Given the description of an element on the screen output the (x, y) to click on. 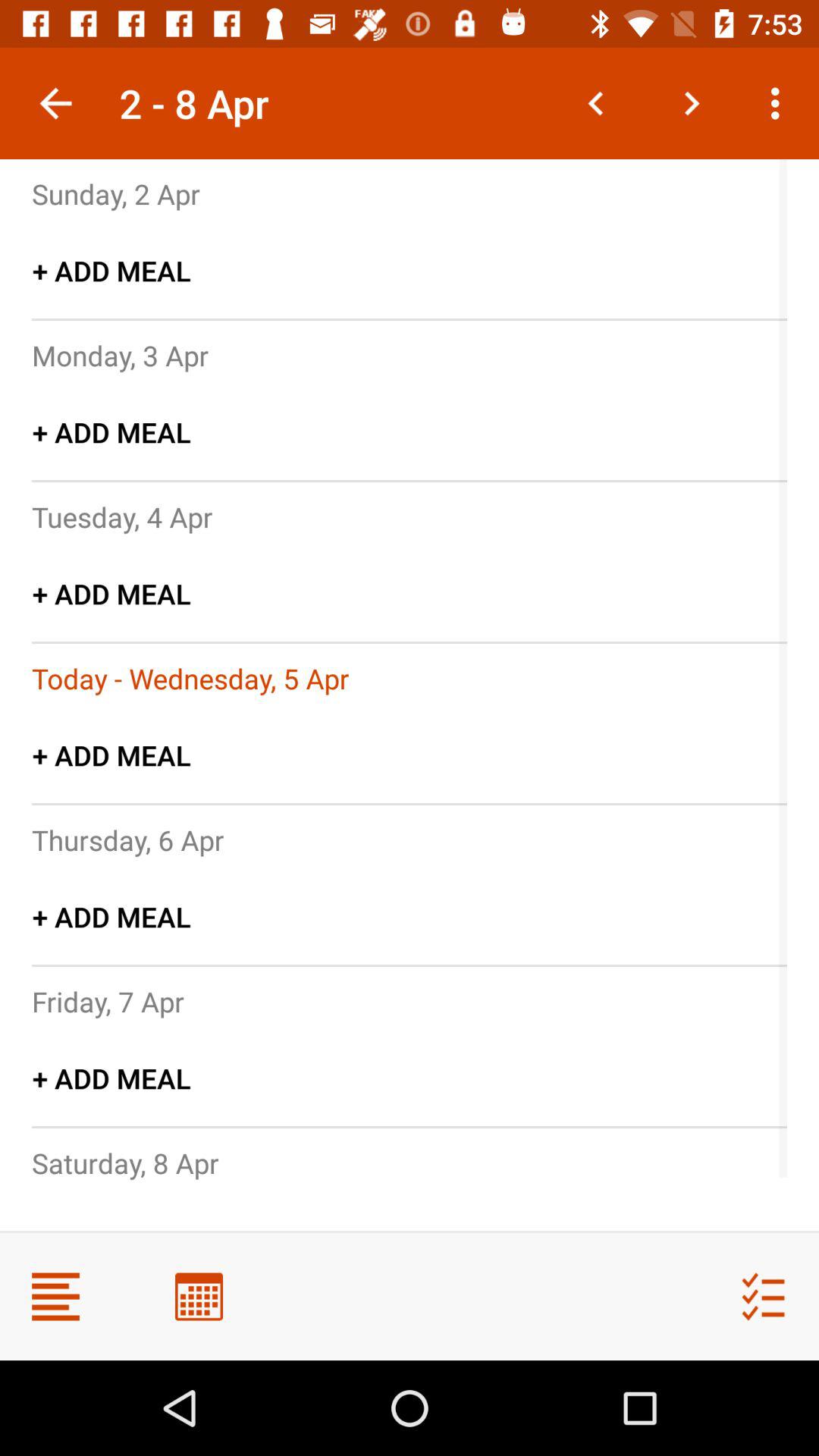
go next button (691, 103)
